Given the description of an element on the screen output the (x, y) to click on. 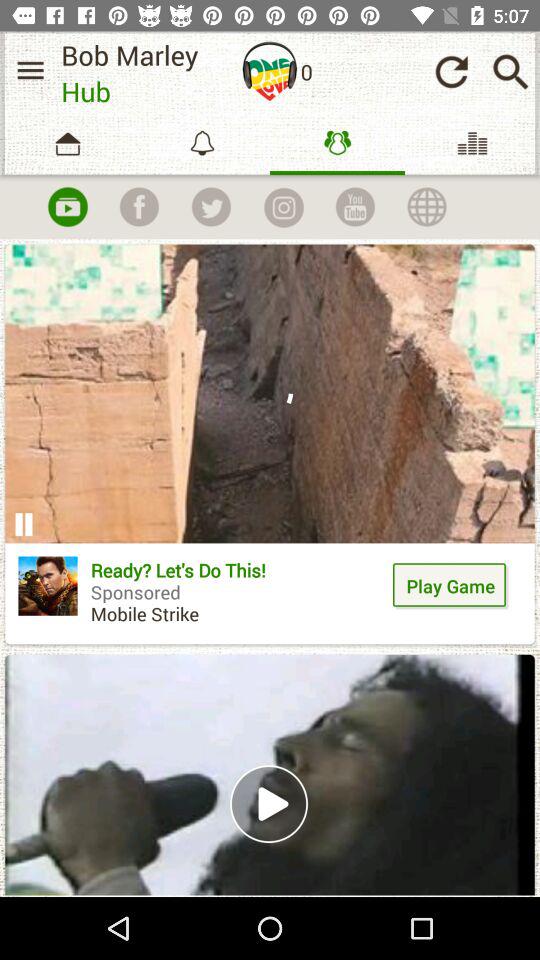
select the icon right of instagram icon (355, 207)
click the play option in the second block (269, 803)
click the icon below the search icon (472, 143)
click play game (451, 585)
click on the first video (269, 444)
tap the youtube icon (67, 207)
click on the twitter icon (210, 207)
select the search bar icon (510, 72)
